Given the description of an element on the screen output the (x, y) to click on. 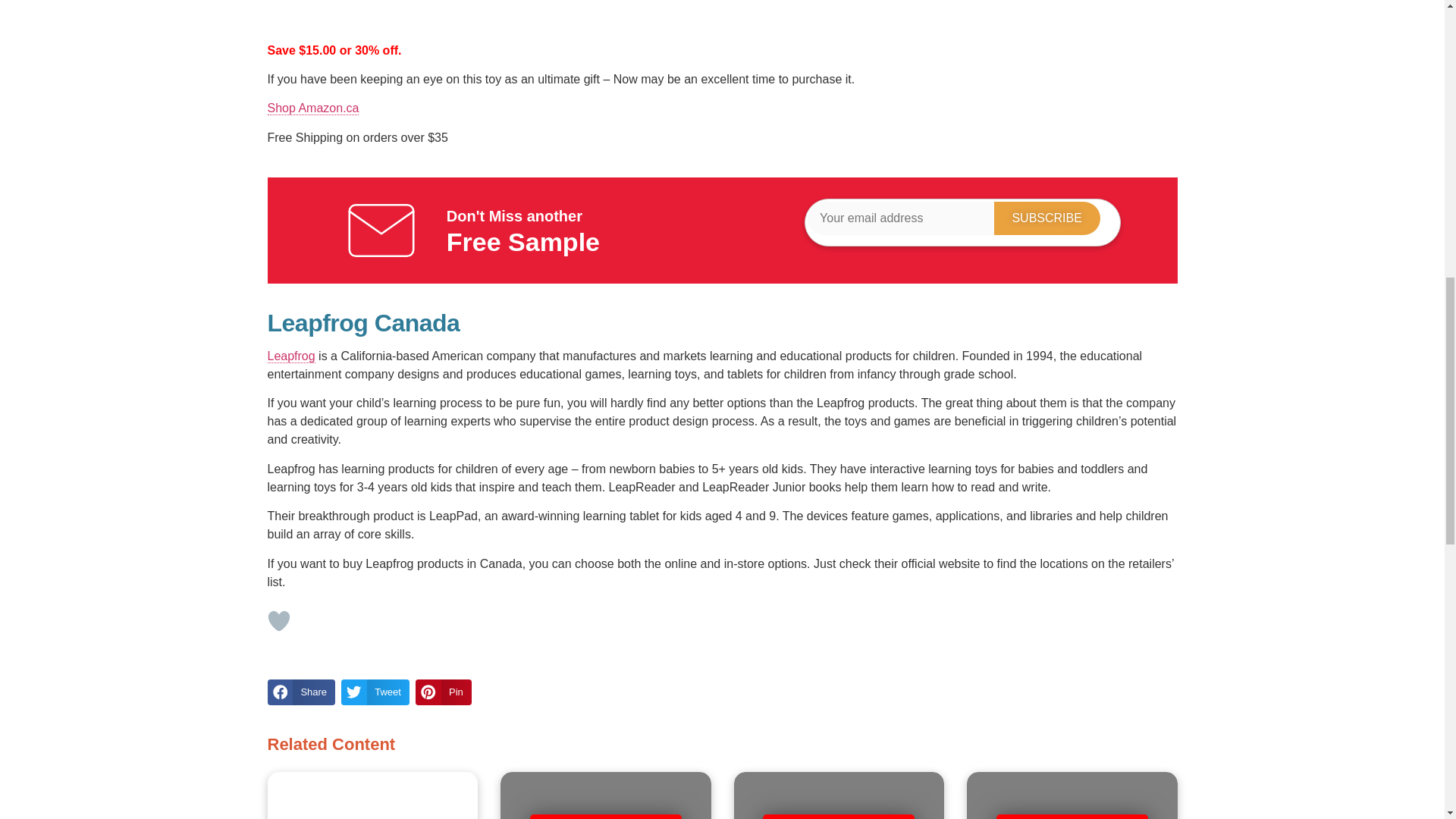
Advertisement (721, 9)
Subscribe (1047, 218)
